Given the description of an element on the screen output the (x, y) to click on. 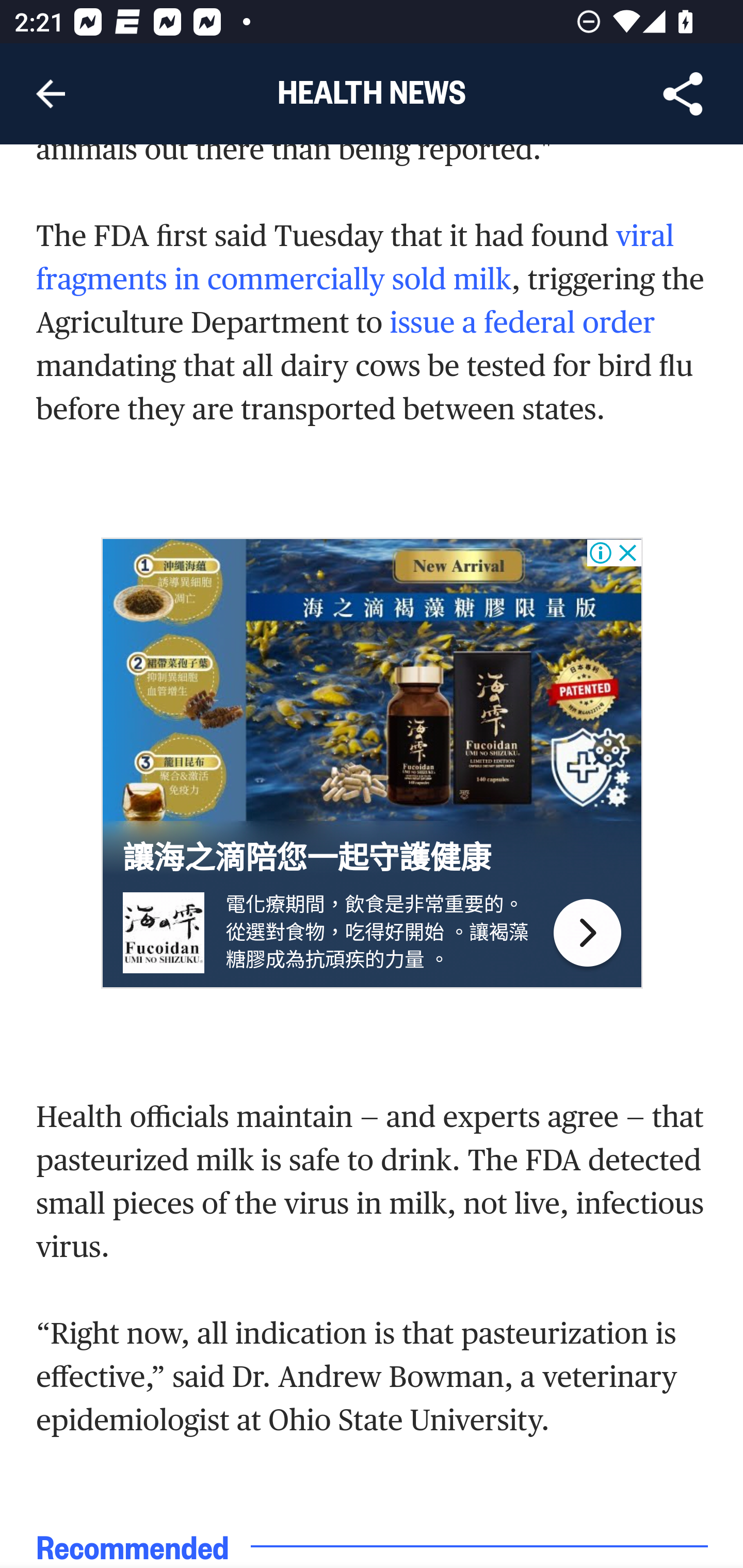
Navigate up (50, 93)
Share Article, button (683, 94)
viral fragments in commercially sold milk (355, 258)
issue a federal order (521, 323)
limitededition (587, 933)
